Given the description of an element on the screen output the (x, y) to click on. 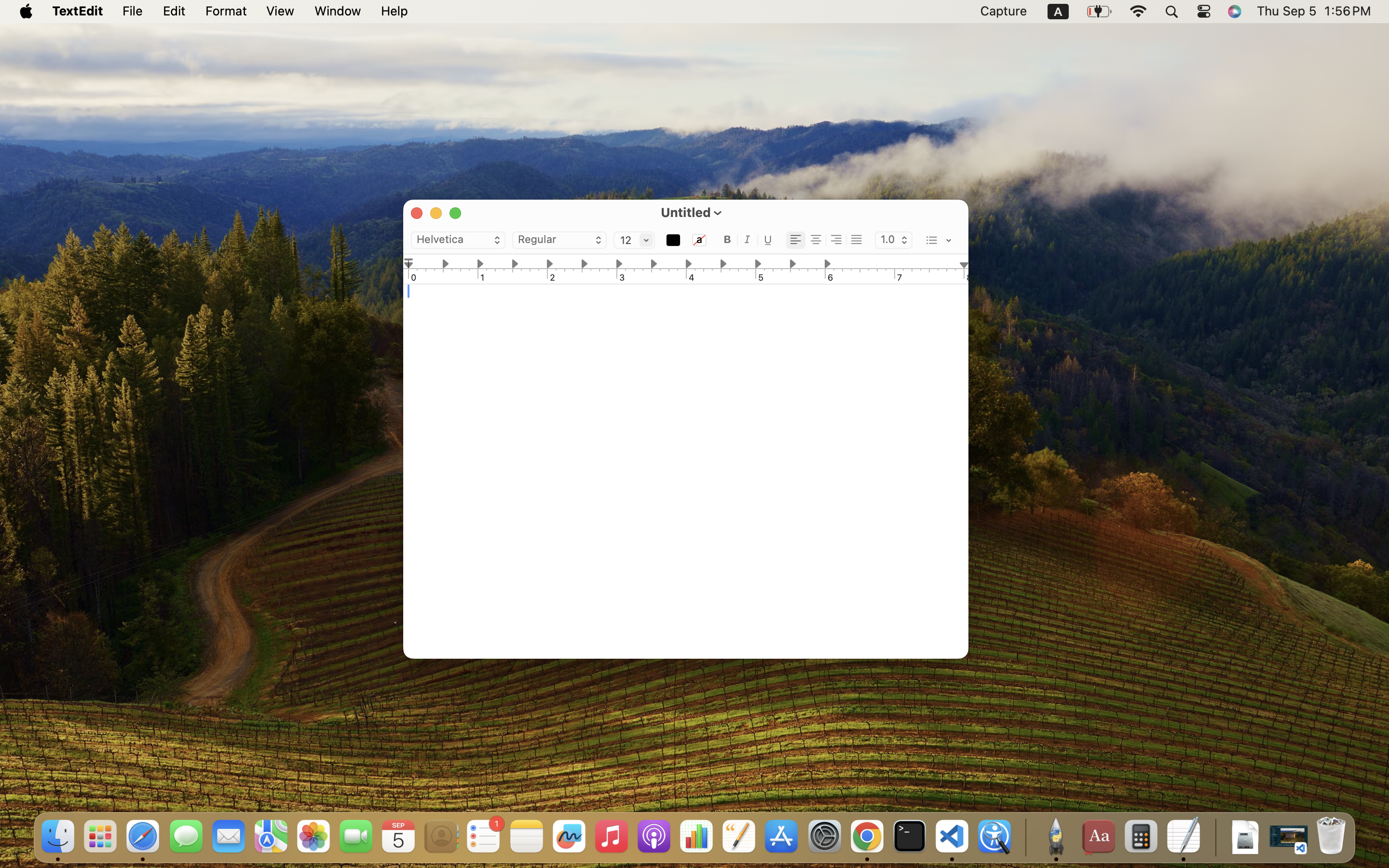
12 Element type: AXComboBox (633, 240)
rgb 0 0 0 0 Element type: AXColorWell (698, 240)
Untitled Element type: AXStaticText (685, 211)
